Given the description of an element on the screen output the (x, y) to click on. 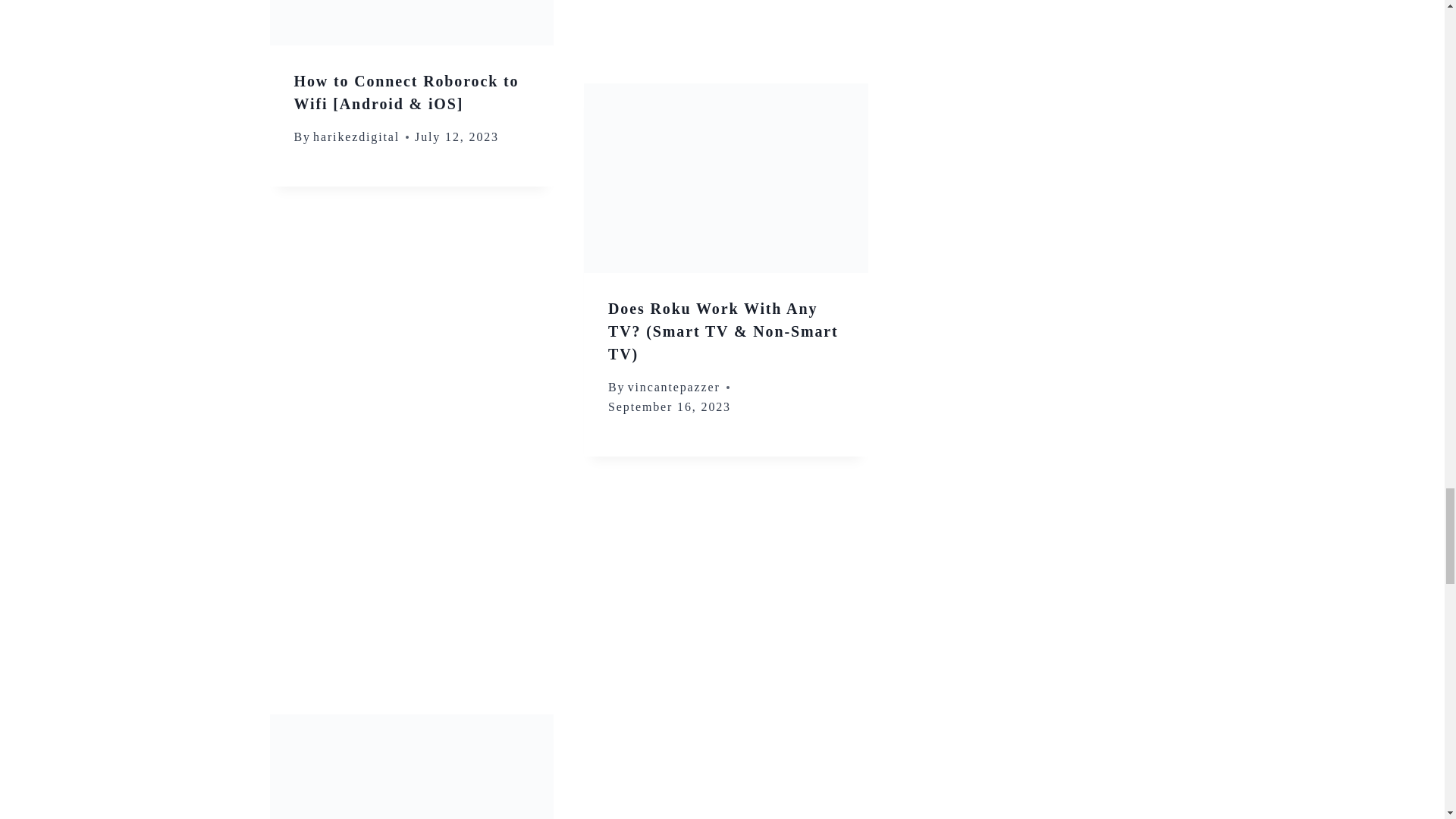
vincantepazzer (673, 386)
harikezdigital (355, 136)
